Given the description of an element on the screen output the (x, y) to click on. 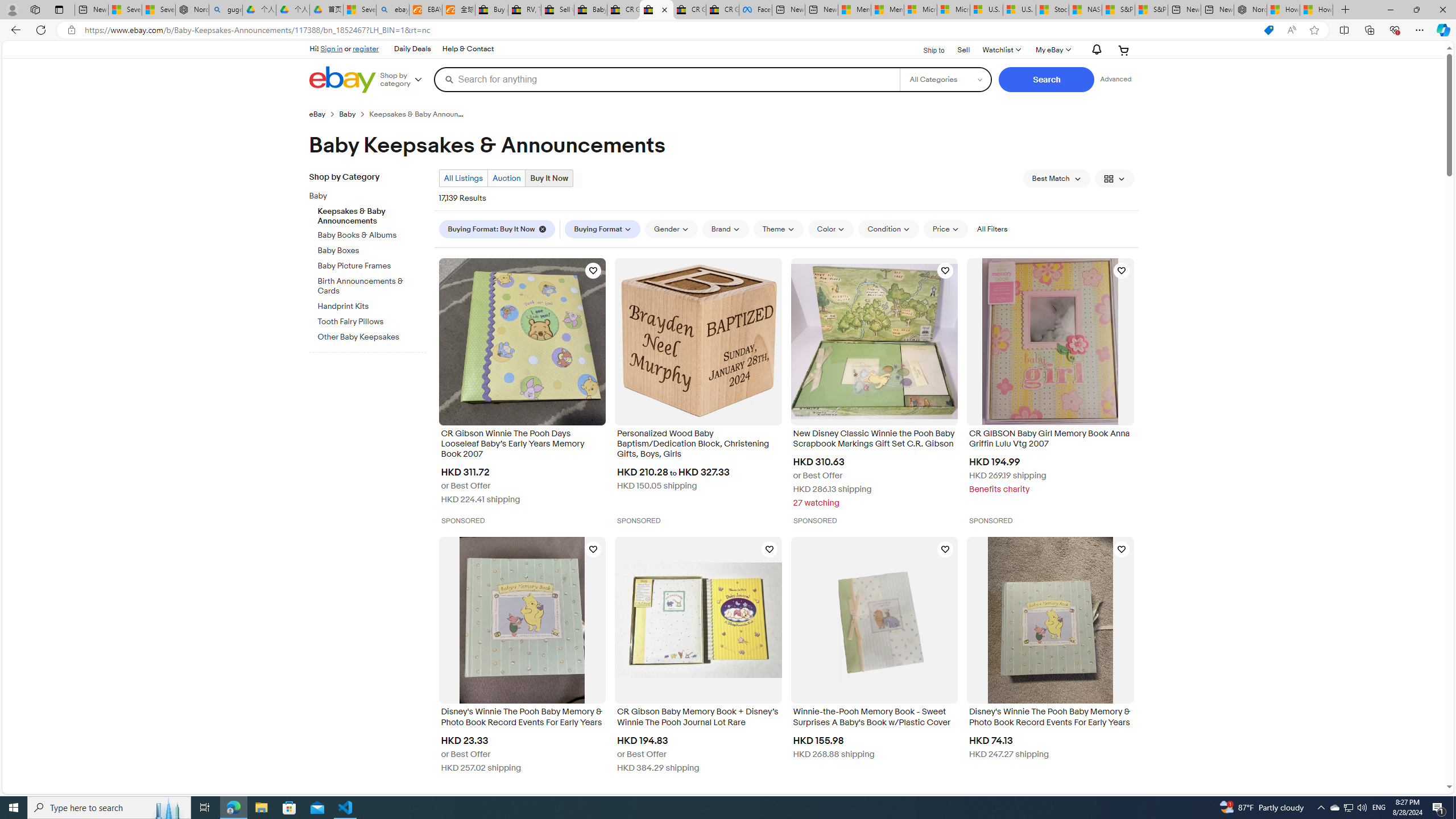
Keepsakes & Baby Announcements (371, 214)
Condition (887, 229)
Baby Boxes (371, 250)
Gender (671, 229)
Baby Picture Frames (371, 263)
Sign in (331, 48)
